Given the description of an element on the screen output the (x, y) to click on. 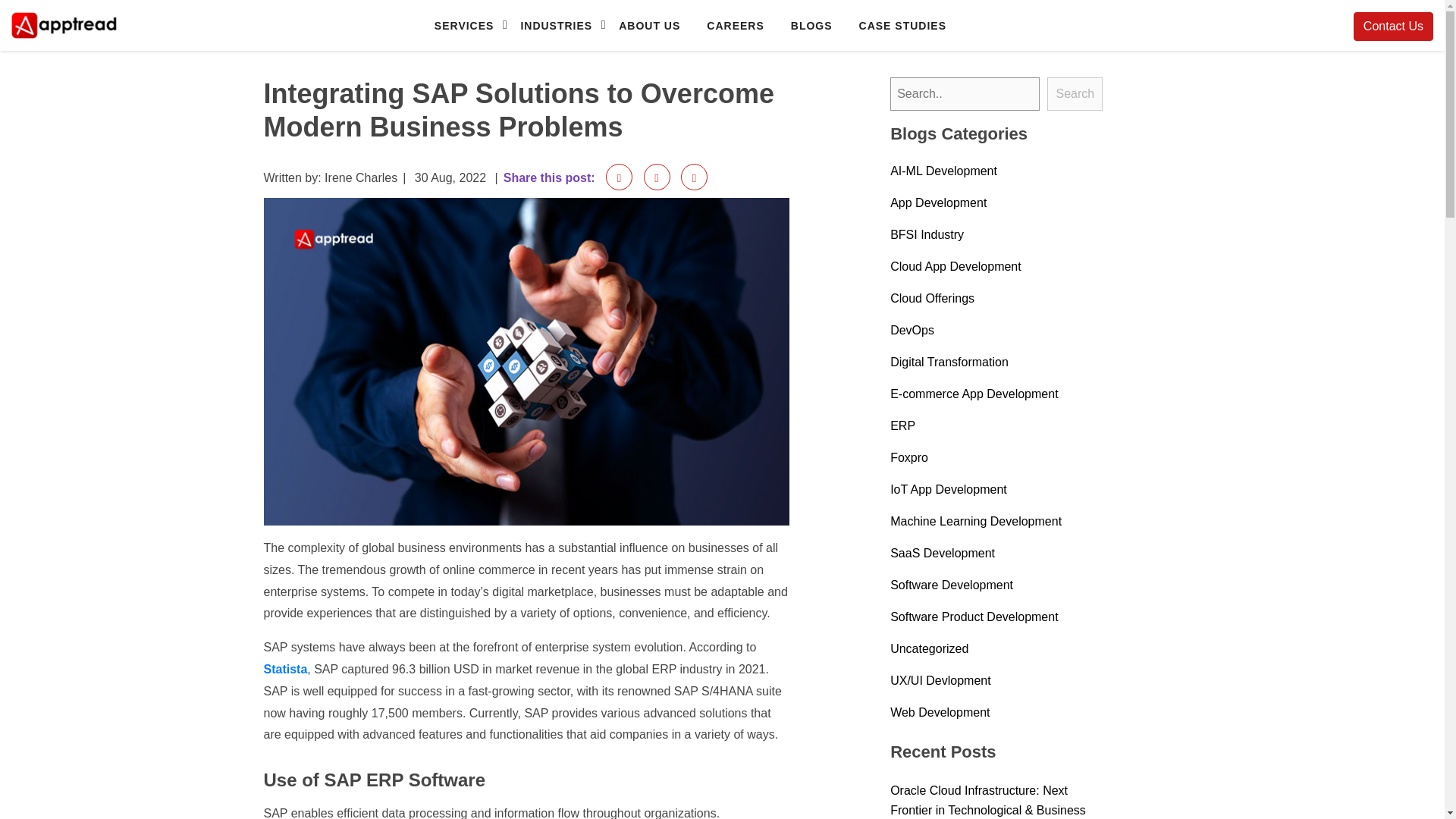
Apptread (36, 48)
Contact Us (1393, 26)
SERVICES (463, 24)
